Given the description of an element on the screen output the (x, y) to click on. 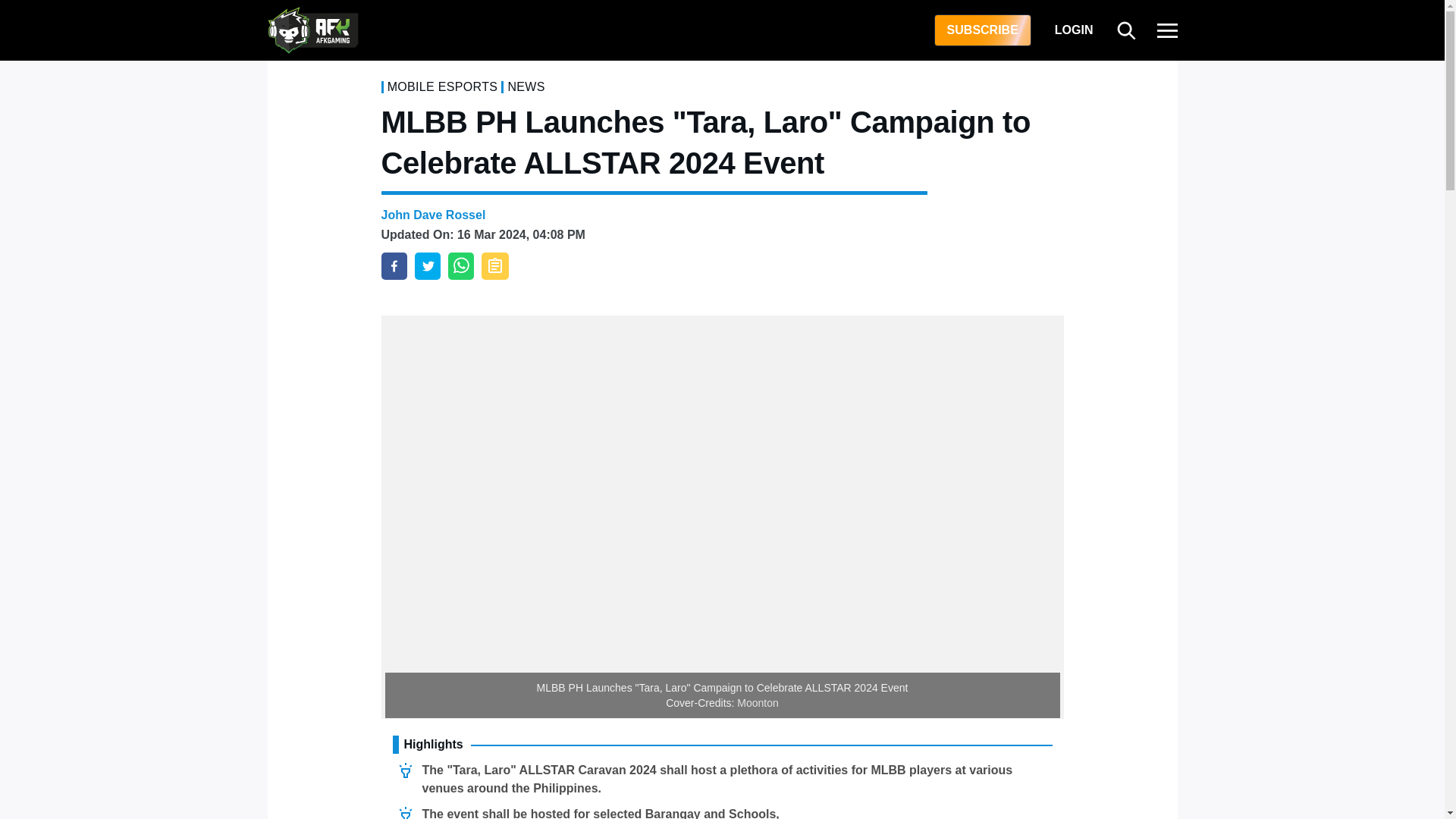
MOBILE ESPORTS (442, 87)
SUBSCRIBE (982, 29)
NEWS (525, 87)
John Dave Rossel (432, 214)
